Given the description of an element on the screen output the (x, y) to click on. 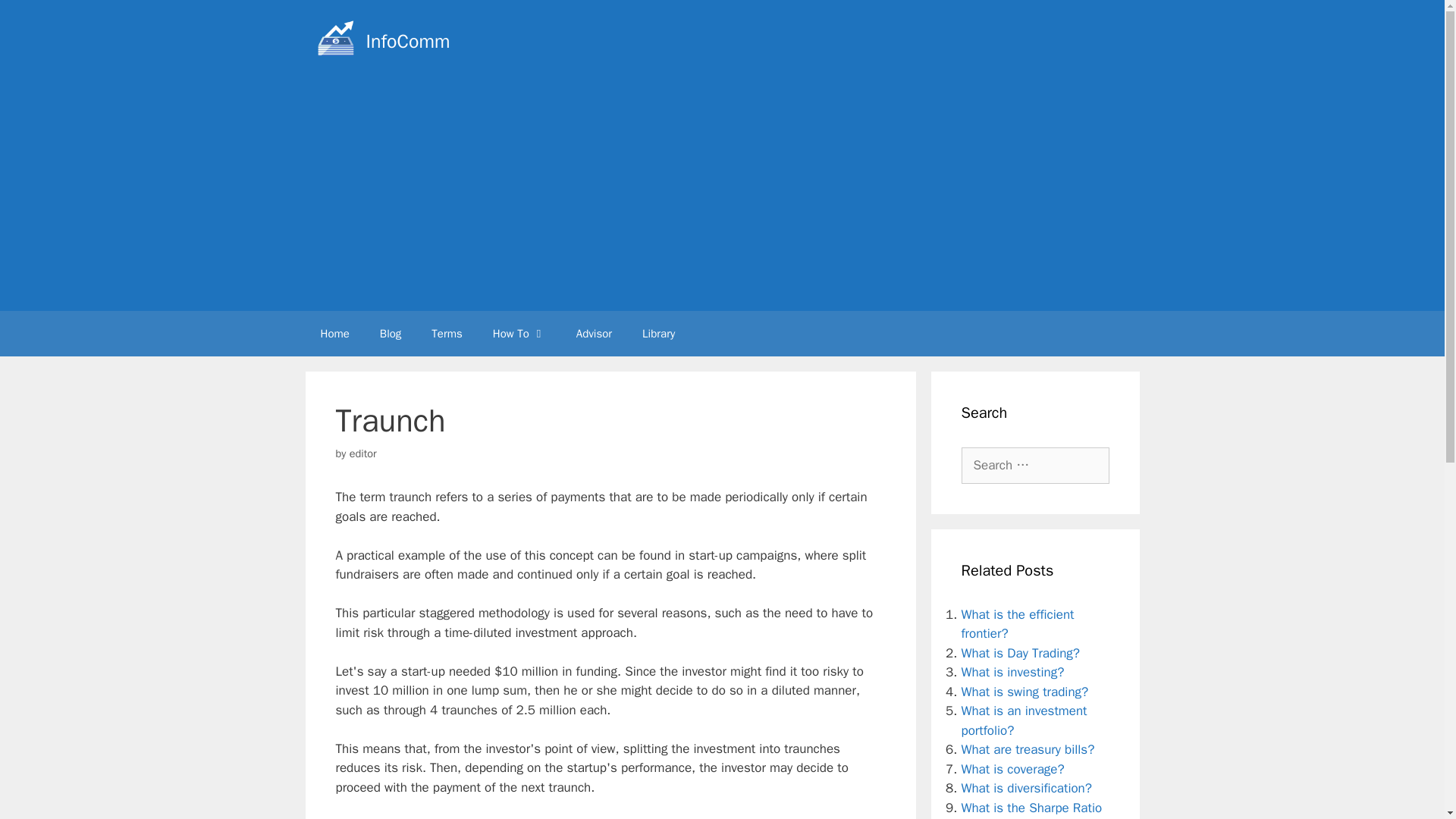
What is coverage? (1012, 769)
What is the efficient frontier? (1017, 624)
What is swing trading? (1024, 691)
editor (363, 453)
What is an investment portfolio? (1023, 720)
InfoComm (407, 41)
Search for: (1034, 465)
View all posts by editor (363, 453)
What is the Sharpe Ratio and how to calculate it? (1031, 809)
Advisor (593, 333)
Blog (390, 333)
Terms (446, 333)
What is investing? (1012, 672)
Search (35, 18)
